Given the description of an element on the screen output the (x, y) to click on. 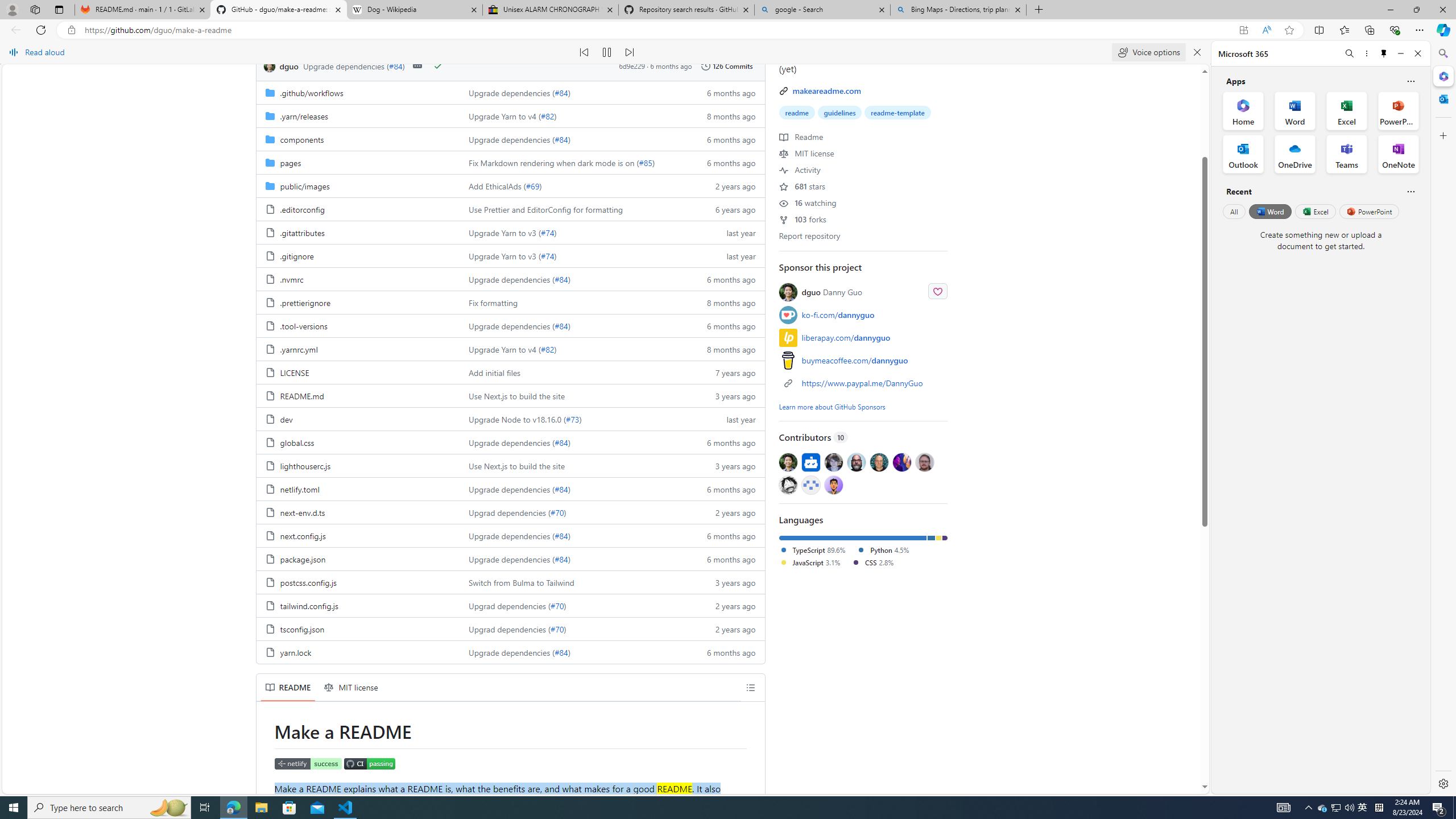
postcss.config.js, (File) (358, 581)
#73 (572, 419)
dguo Danny Guo (830, 292)
LICENSE, (File) (358, 372)
TypeScript89.6% (817, 550)
tailwind.config.js, (File) (308, 605)
.gitignore, (File) (296, 255)
AutomationID: folder-row-15 (510, 441)
.github/workflows, (Directory) (311, 92)
AutomationID: folder-row-17 (510, 488)
App available. Install GitHub (1243, 29)
@dependabot[bot] (809, 461)
